Given the description of an element on the screen output the (x, y) to click on. 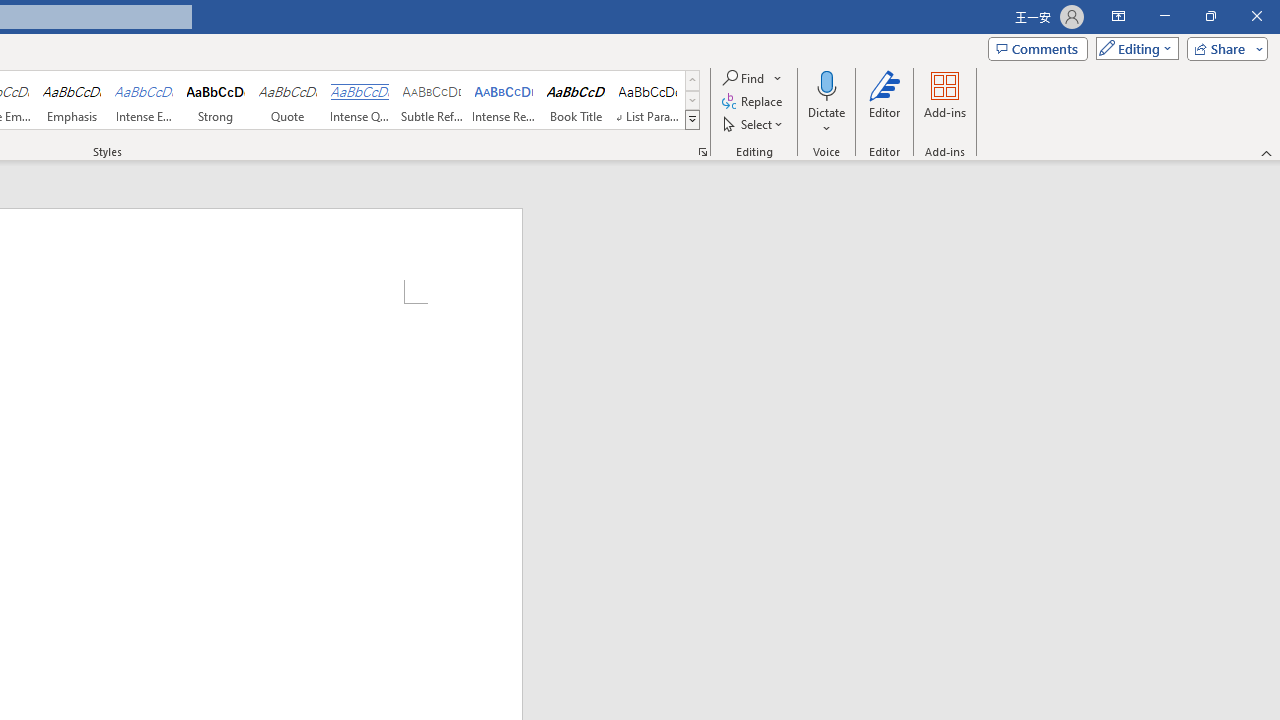
Intense Emphasis (143, 100)
